Given the description of an element on the screen output the (x, y) to click on. 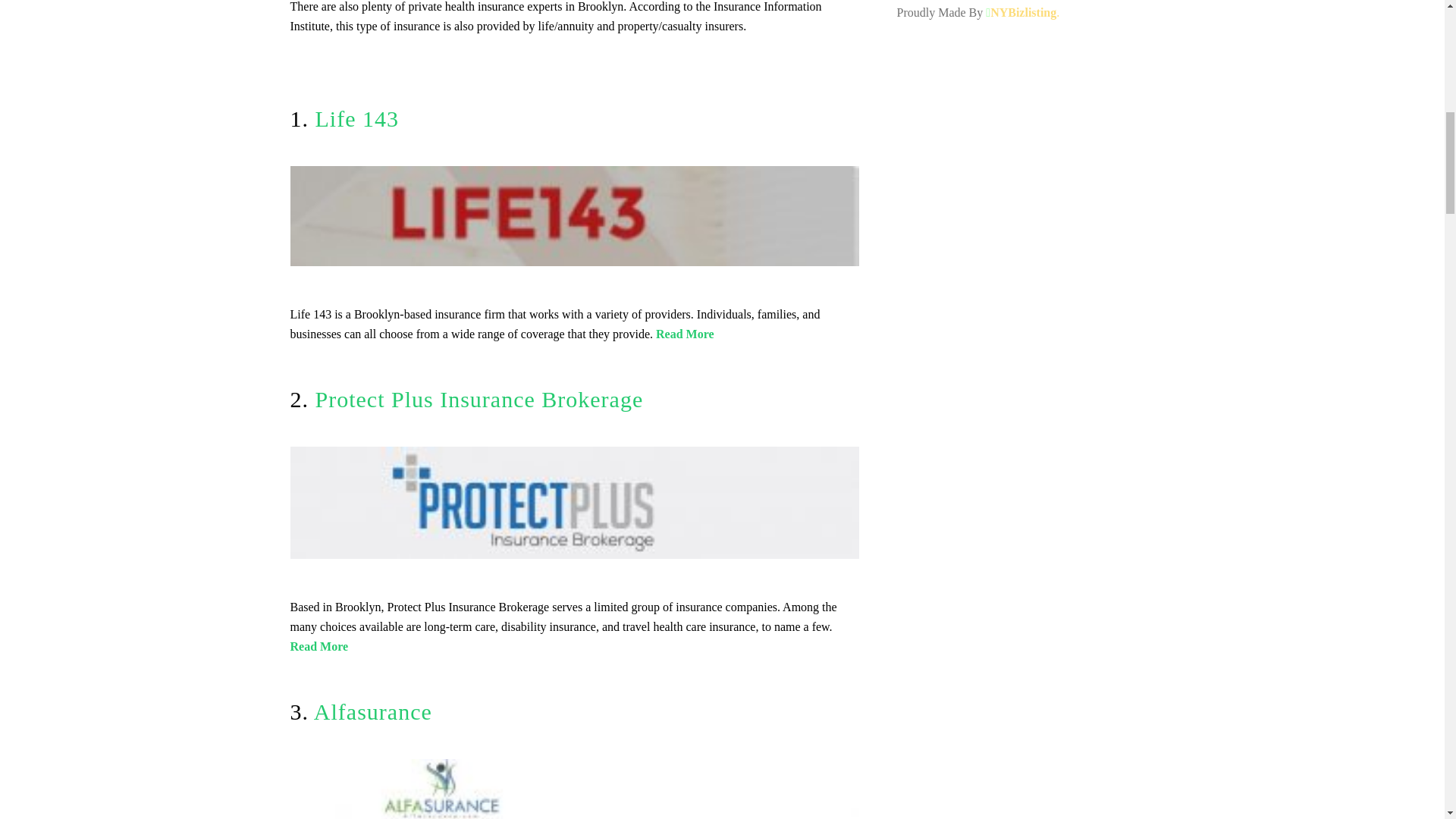
Life 143 (356, 118)
Alfasurance (373, 711)
Protect Plus Insurance Brokerage (479, 398)
Read More (685, 333)
Read More (318, 645)
